Given the description of an element on the screen output the (x, y) to click on. 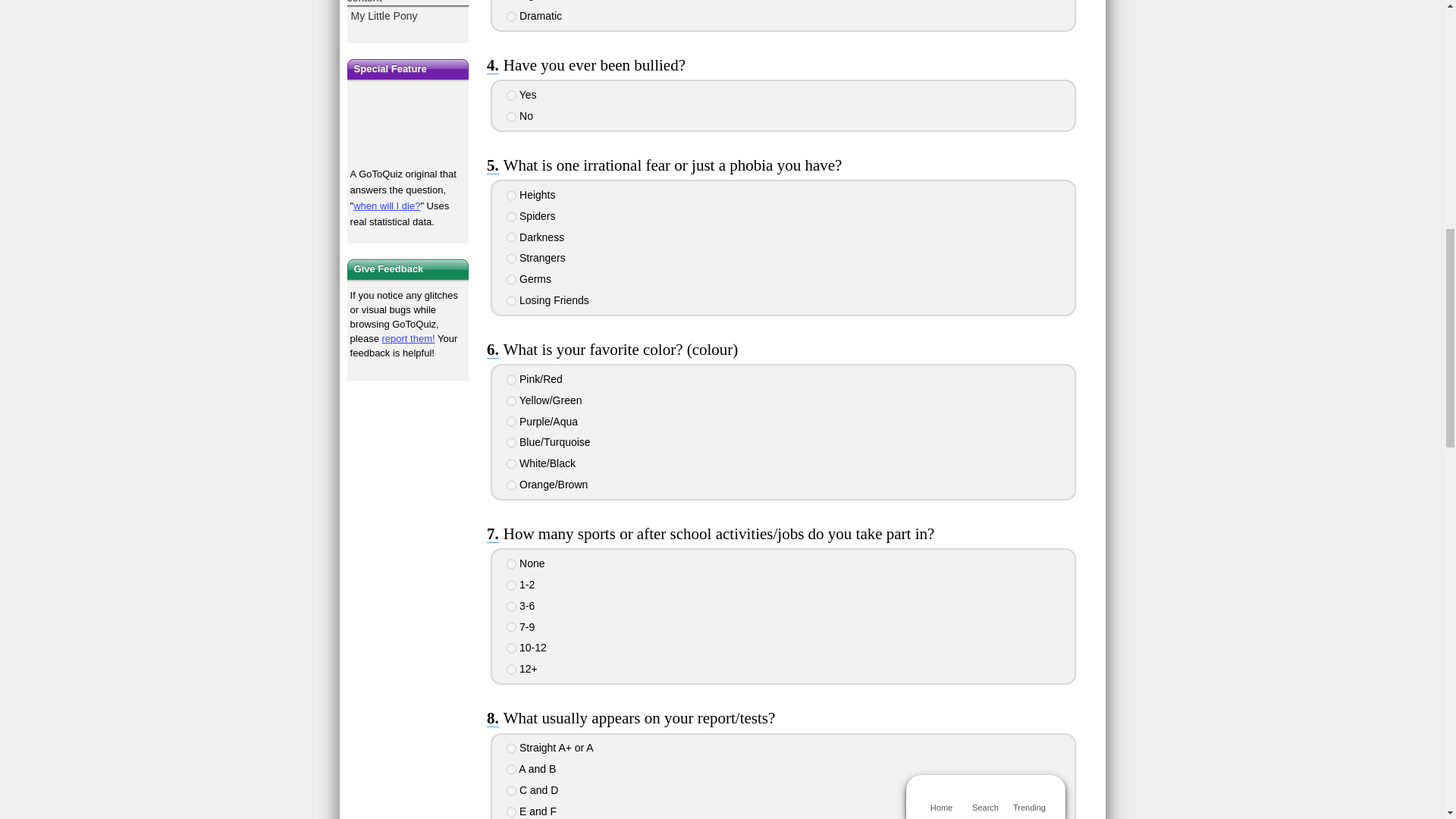
My Little Pony (407, 13)
report them! (408, 337)
2 (511, 116)
when will I die? (386, 205)
Try our lifespan calculator (407, 124)
1 (511, 95)
6 (511, 16)
